Given the description of an element on the screen output the (x, y) to click on. 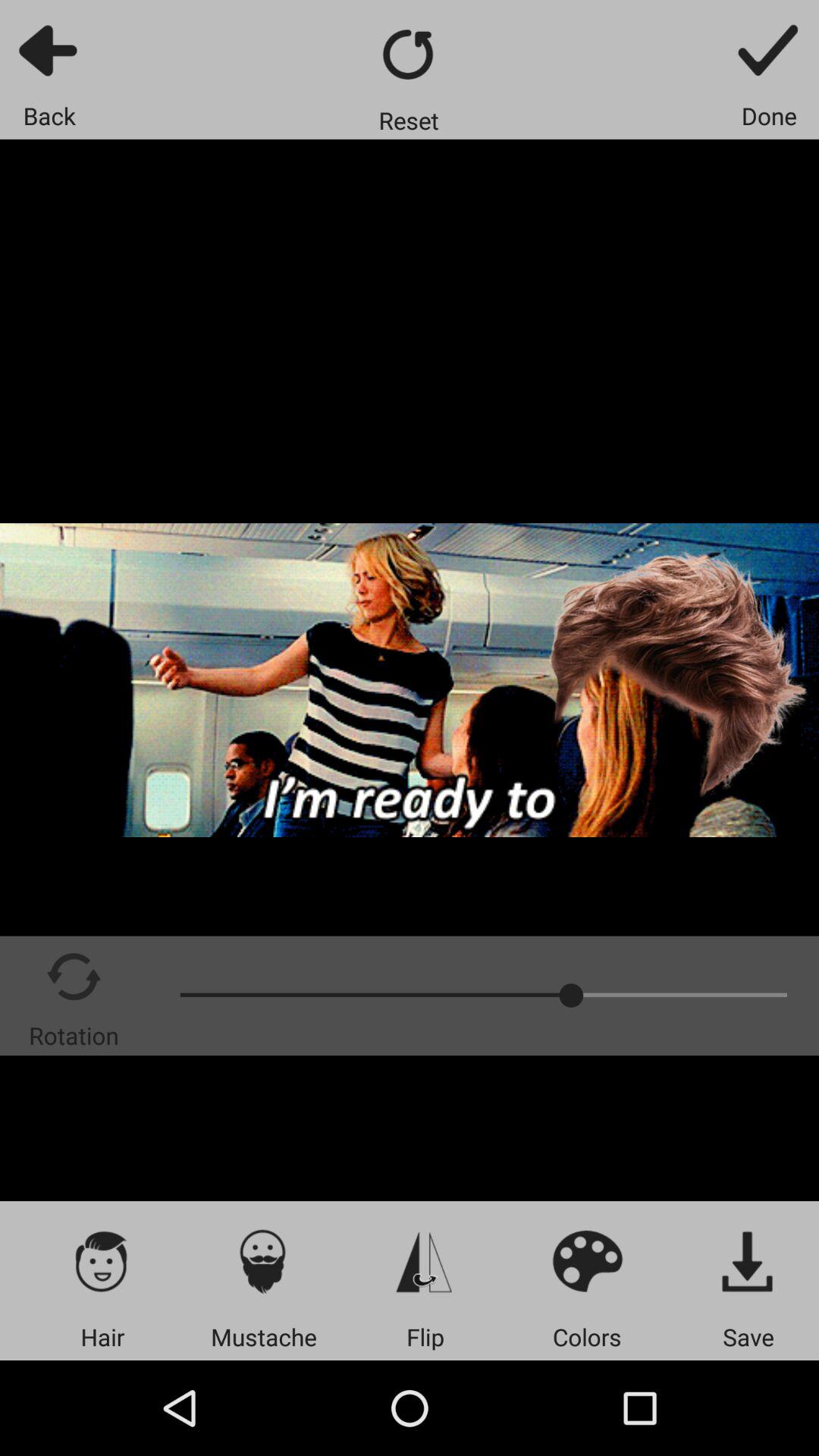
reset media (408, 54)
